Given the description of an element on the screen output the (x, y) to click on. 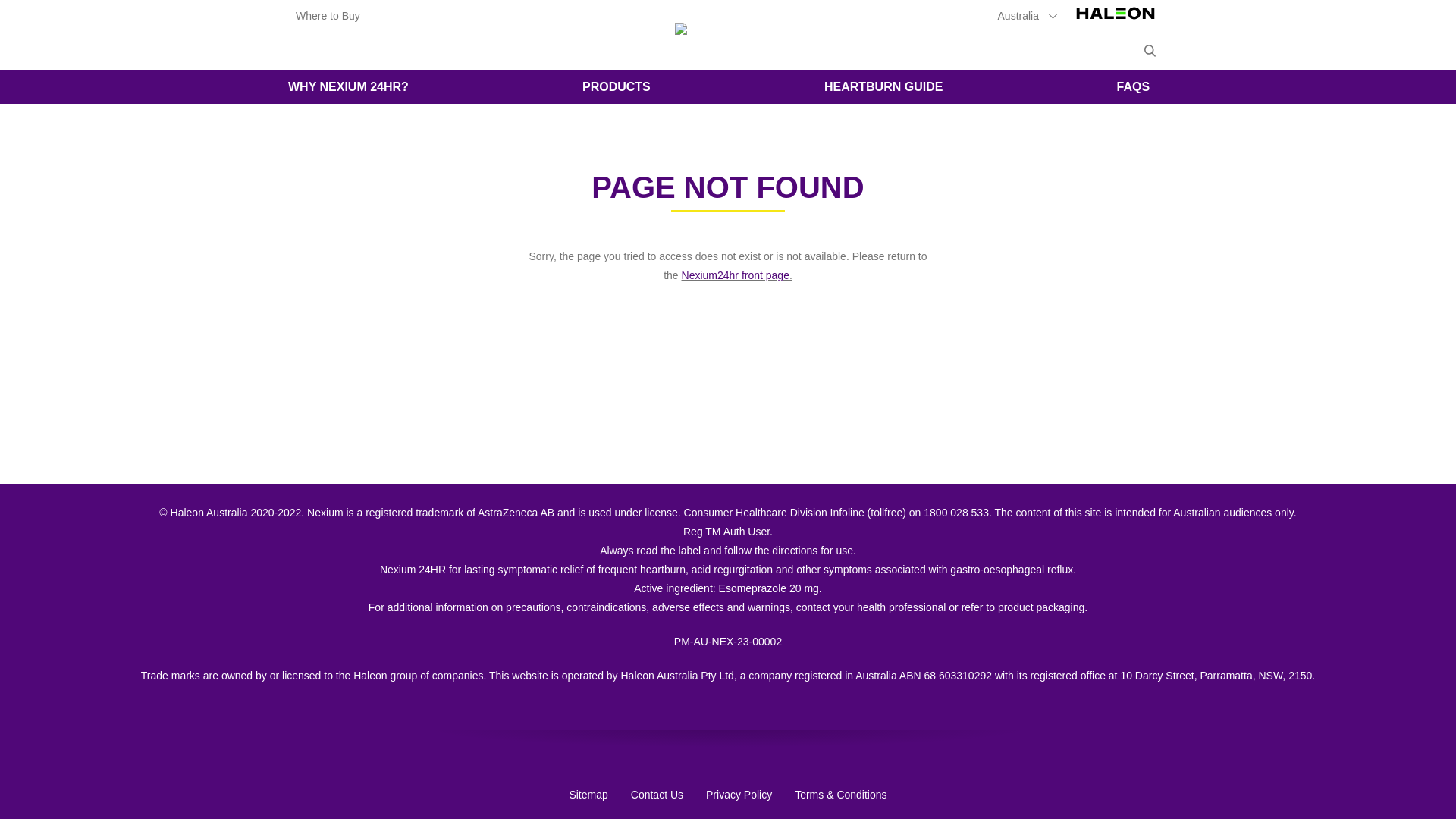
Nexium Logo Element type: hover (727, 31)
PRODUCTS Element type: text (616, 86)
FAQS Element type: text (1133, 86)
Nexium24hr front page Element type: text (735, 275)
Contact Us Element type: text (656, 794)
Sitemap Element type: text (587, 794)
WHY NEXIUM 24HR? Element type: text (348, 86)
Where to Buy Element type: text (327, 15)
Terms & Conditions Element type: text (840, 795)
HEARTBURN GUIDE Element type: text (883, 86)
Submit Element type: text (1150, 50)
Haleon Element type: hover (1115, 21)
Privacy Policy Element type: text (738, 794)
